Given the description of an element on the screen output the (x, y) to click on. 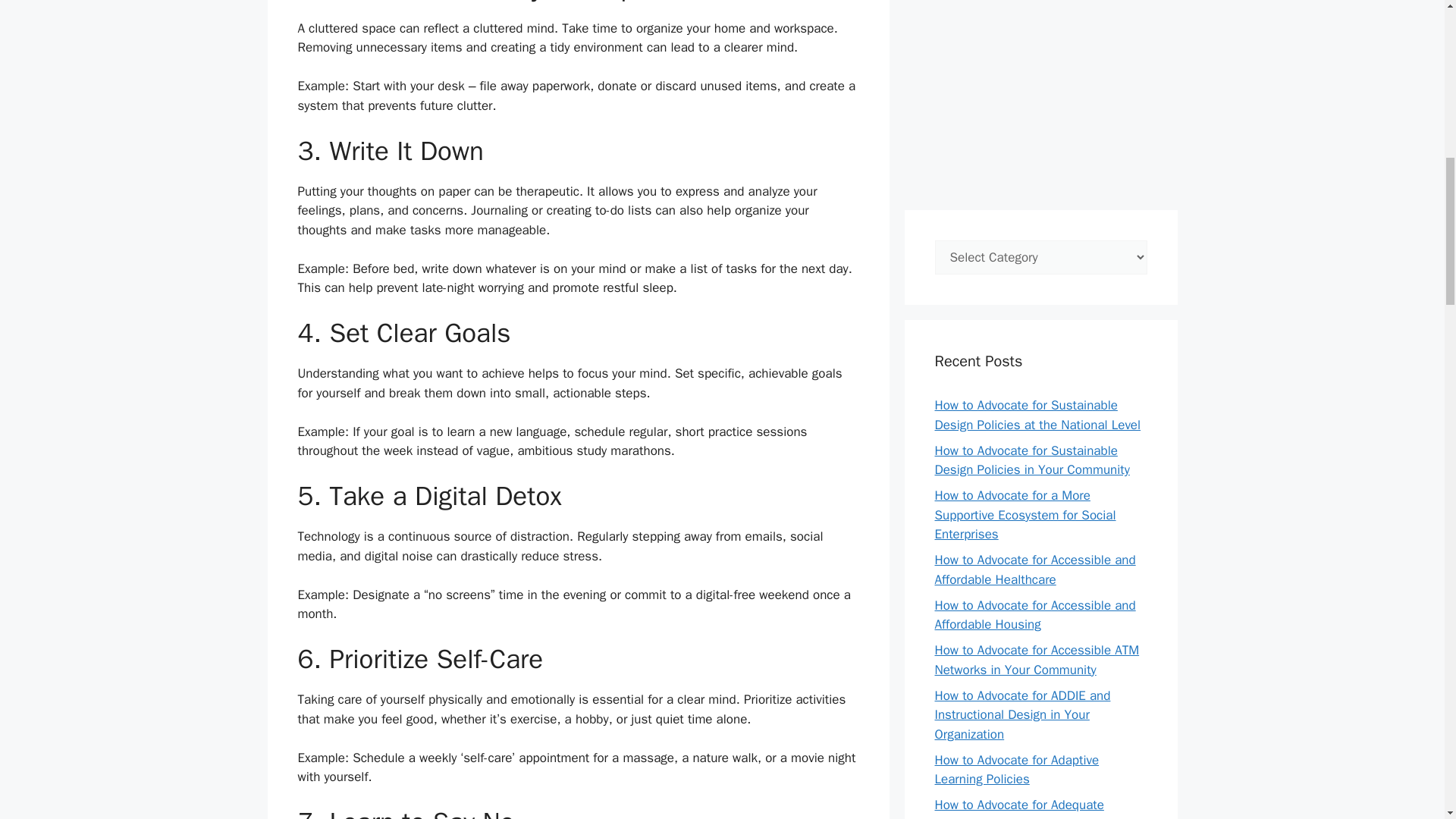
Advertisement (1040, 97)
